Given the description of an element on the screen output the (x, y) to click on. 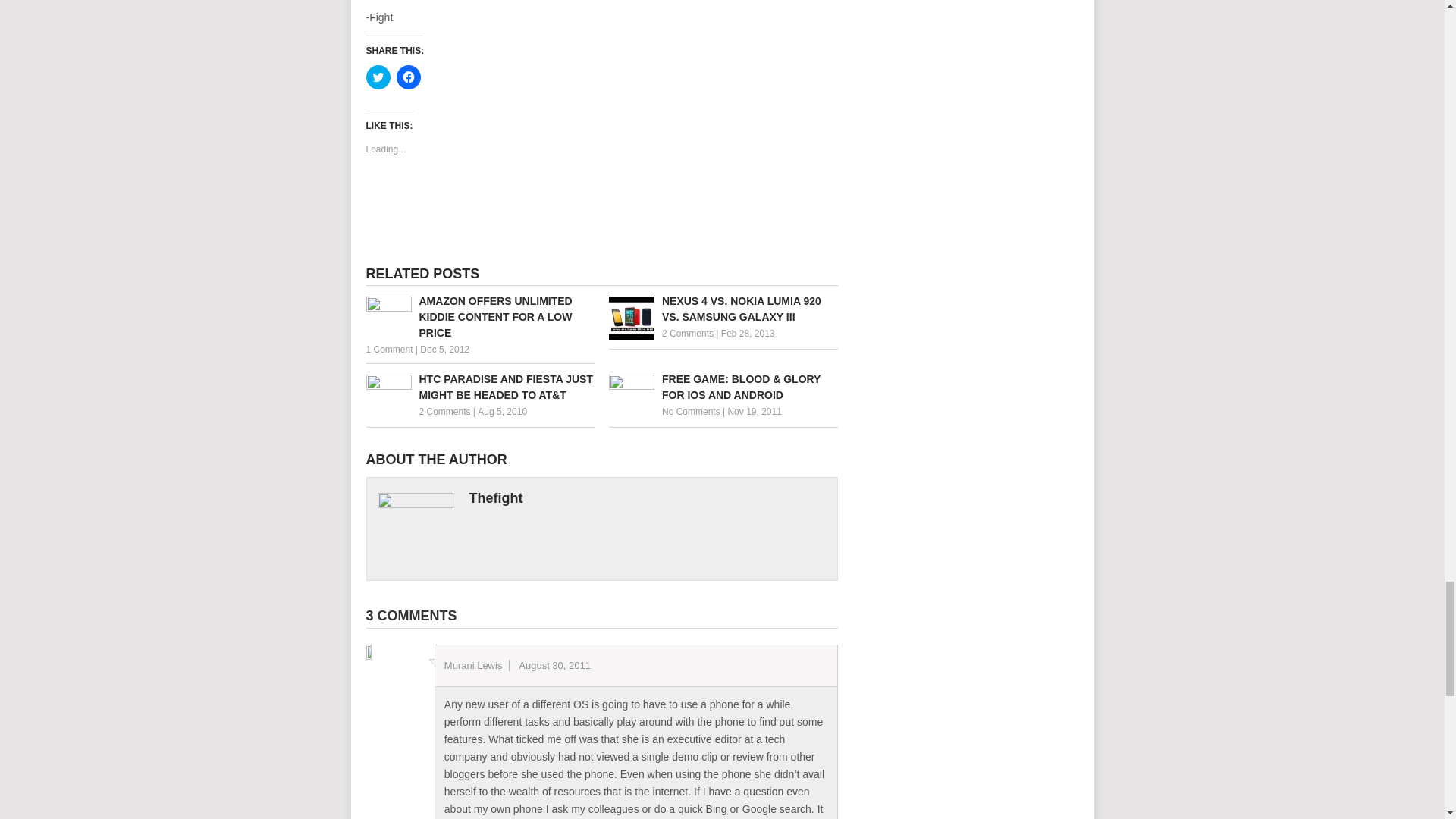
Click to share on Facebook (408, 77)
Nexus 4 vs. Nokia Lumia 920 vs. Samsung Galaxy III (723, 309)
NEXUS 4 VS. NOKIA LUMIA 920 VS. SAMSUNG GALAXY III (723, 309)
Click to share on Twitter (377, 77)
2 Comments (444, 411)
Amazon offers unlimited kiddie content for a low price (479, 317)
No Comments (691, 411)
AMAZON OFFERS UNLIMITED KIDDIE CONTENT FOR A LOW PRICE (479, 317)
1 Comment (388, 348)
2 Comments (687, 333)
